Given the description of an element on the screen output the (x, y) to click on. 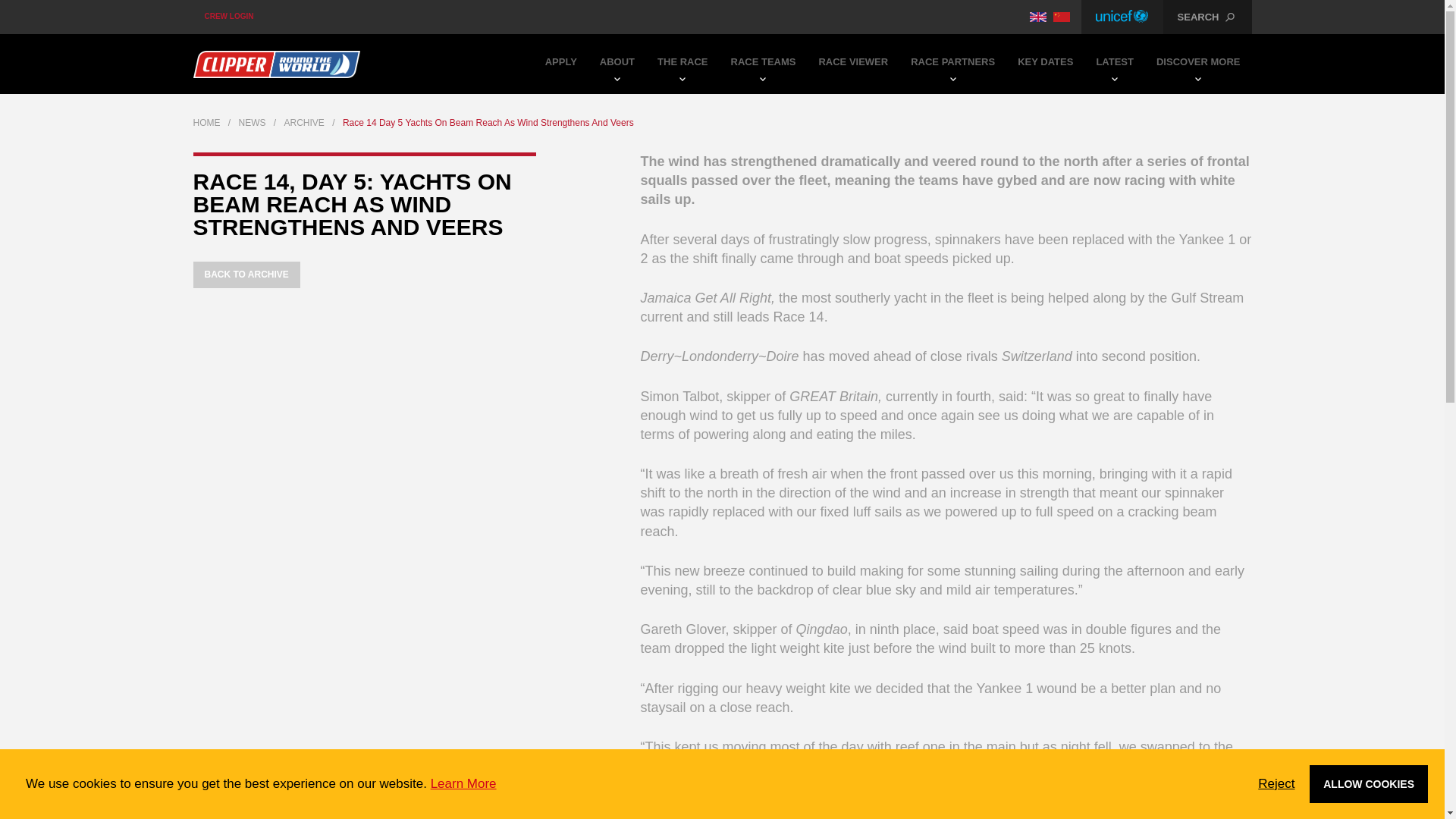
ABOUT (617, 64)
English (1037, 17)
Chinese (1061, 17)
CREW LOGIN (228, 17)
Clipper - Round The World (275, 64)
RACE TEAMS (762, 64)
English (1037, 17)
Clipper Round The World (275, 64)
APPLY (561, 64)
THE RACE (682, 64)
Submit (723, 101)
Chinese (1061, 17)
Unicef (1122, 17)
English (1037, 17)
Chinese (1061, 17)
